Given the description of an element on the screen output the (x, y) to click on. 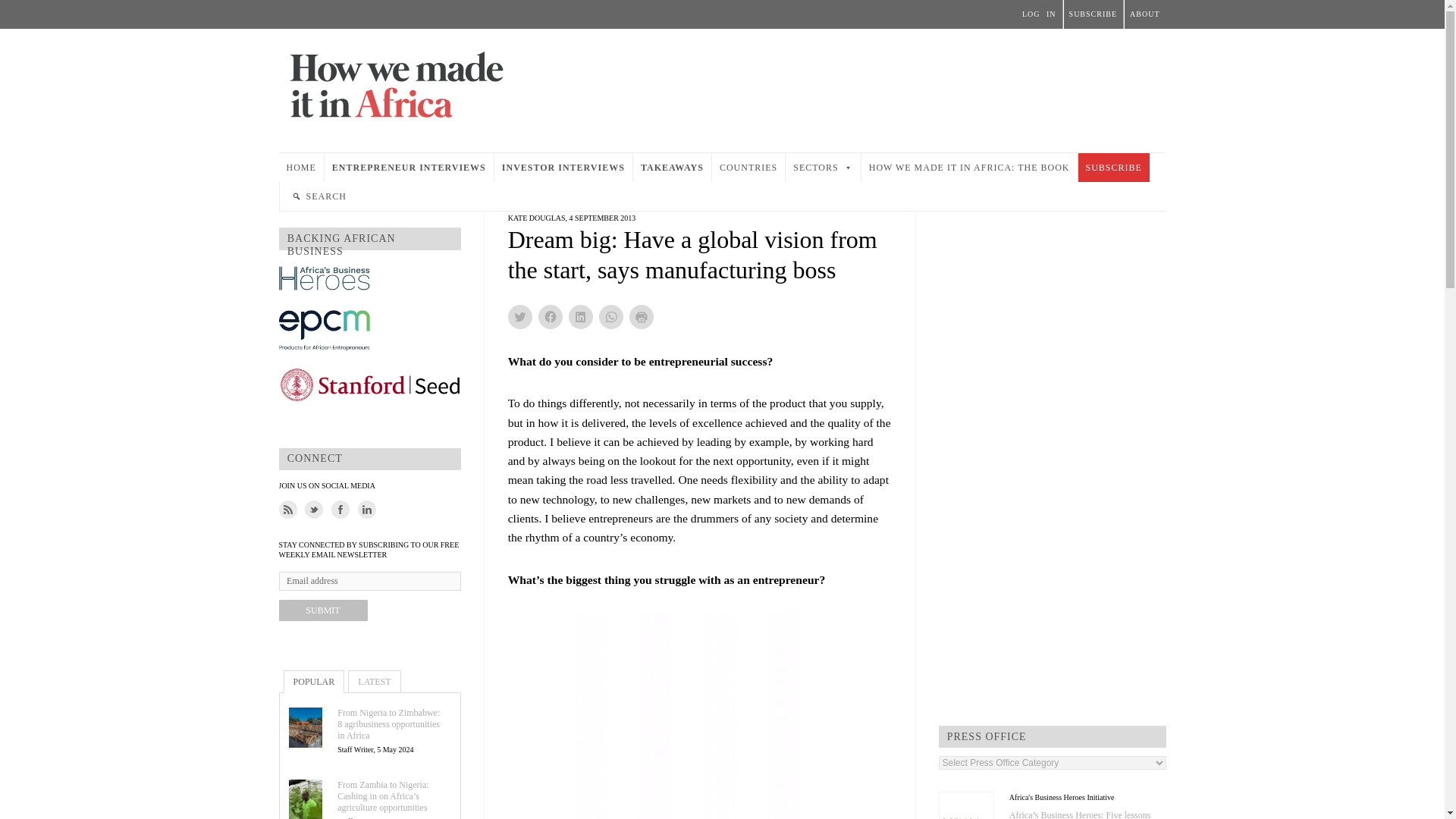
COUNTRIES (747, 167)
SEARCH (318, 195)
HOW WE MADE IT IN AFRICA: THE BOOK (969, 167)
3rd party ad content (699, 715)
Click to share on WhatsApp (610, 316)
Click to share on Facebook (550, 316)
SECTORS (823, 167)
ENTREPRENEUR INTERVIEWS (408, 167)
SUBSCRIBE (1114, 167)
Posts by Kate Douglas (537, 217)
KATE DOUGLAS (537, 217)
TAKEAWAYS (672, 167)
Submit (323, 609)
3rd party ad content (890, 87)
Click to print (640, 316)
